Given the description of an element on the screen output the (x, y) to click on. 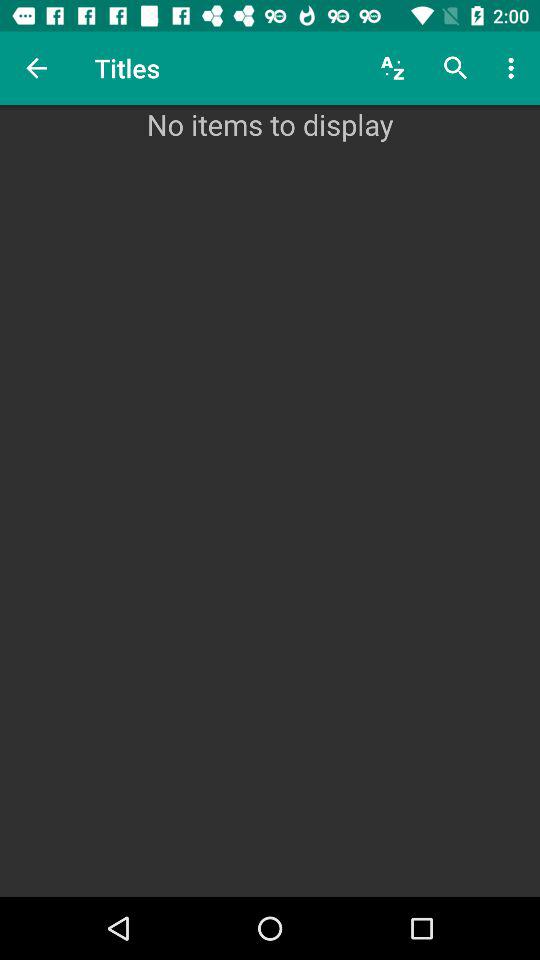
turn off the item above no items to item (513, 67)
